Given the description of an element on the screen output the (x, y) to click on. 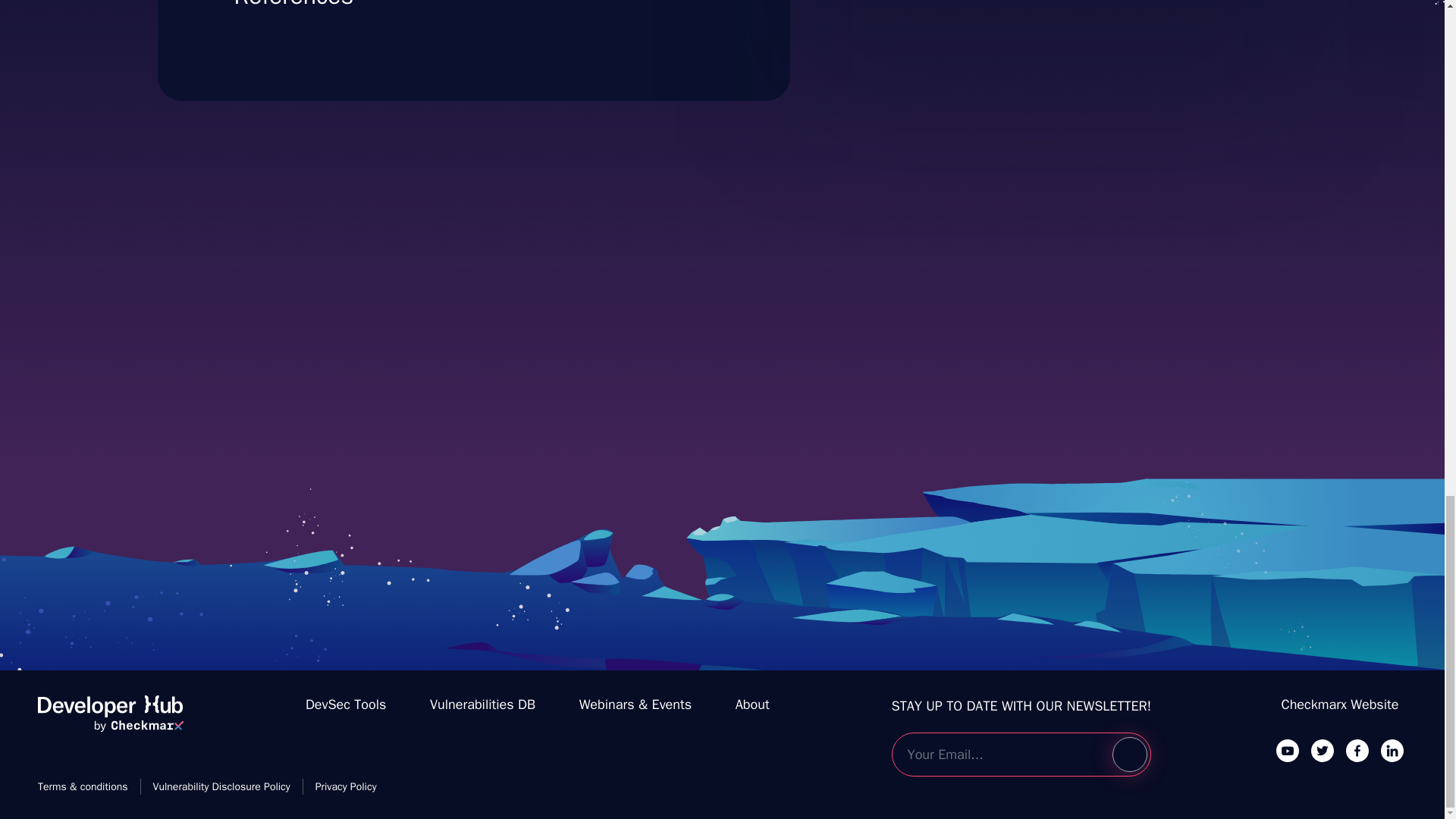
Follow us on Facebook (1037, 12)
Follow us on Linkedin (1356, 750)
Vulnerability Disclosure Policy (1391, 750)
Checkmarx Website (220, 786)
Submit form (1340, 704)
Goto website home page (1129, 754)
About (110, 720)
Vulnerabilities DB (752, 704)
Privacy Policy (482, 704)
